Given the description of an element on the screen output the (x, y) to click on. 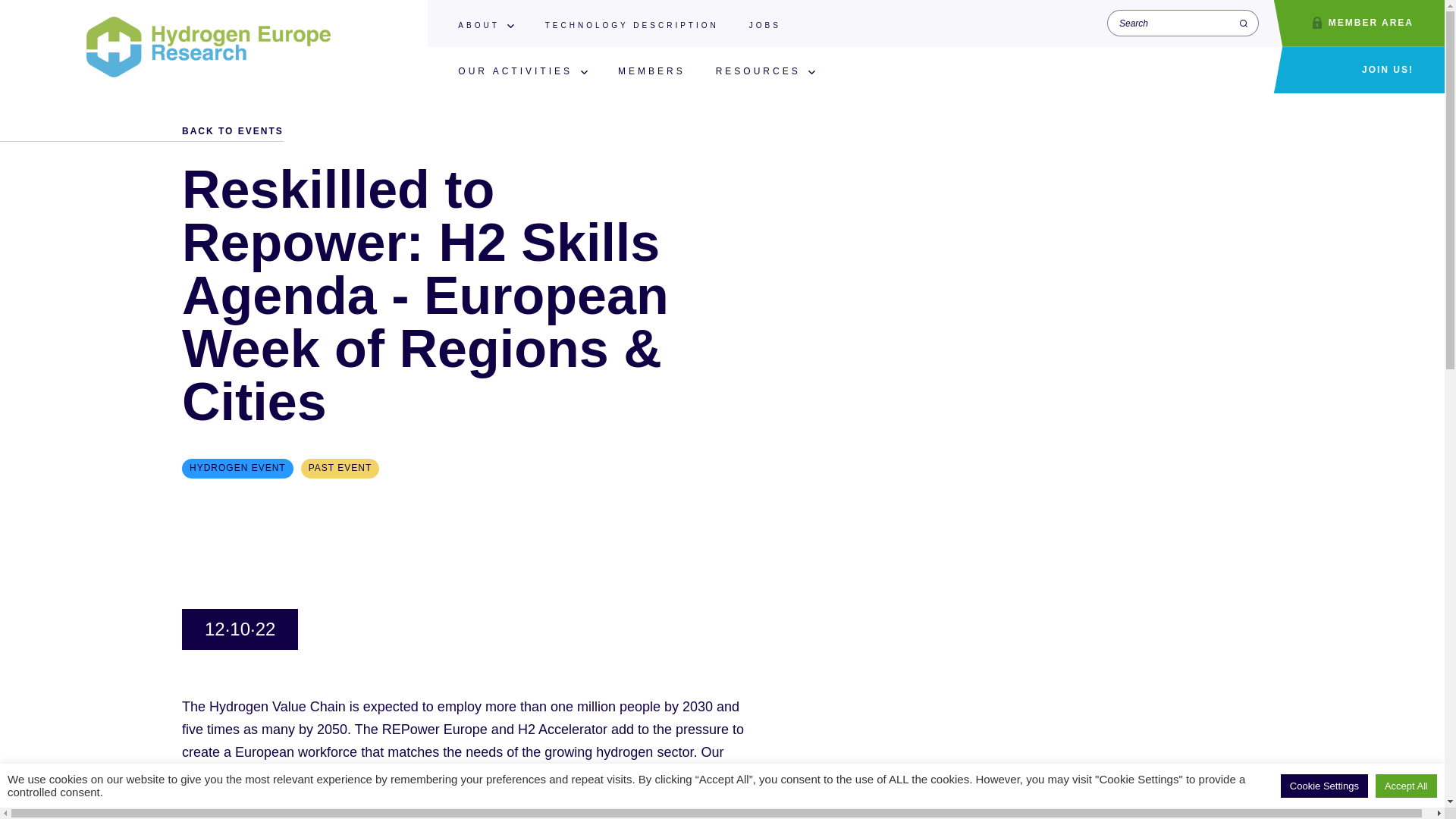
JOIN US! (1359, 70)
ABOUT (478, 26)
RESOURCES (758, 71)
Search (1243, 23)
MEMBERS (651, 71)
JOBS (764, 26)
TECHNOLOGY DESCRIPTION (631, 26)
MEMBER AREA (1359, 23)
OUR ACTIVITIES (515, 71)
